Given the description of an element on the screen output the (x, y) to click on. 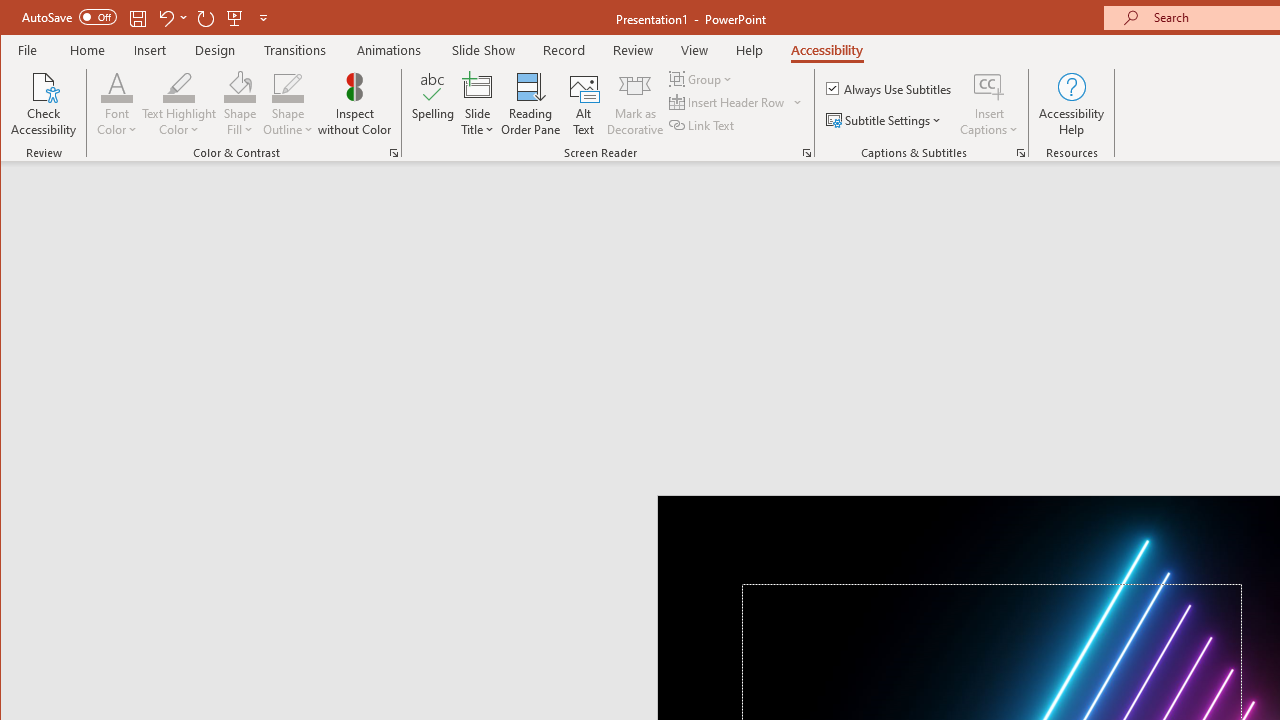
Color & Contrast (393, 152)
Always Use Subtitles (890, 88)
